Given the description of an element on the screen output the (x, y) to click on. 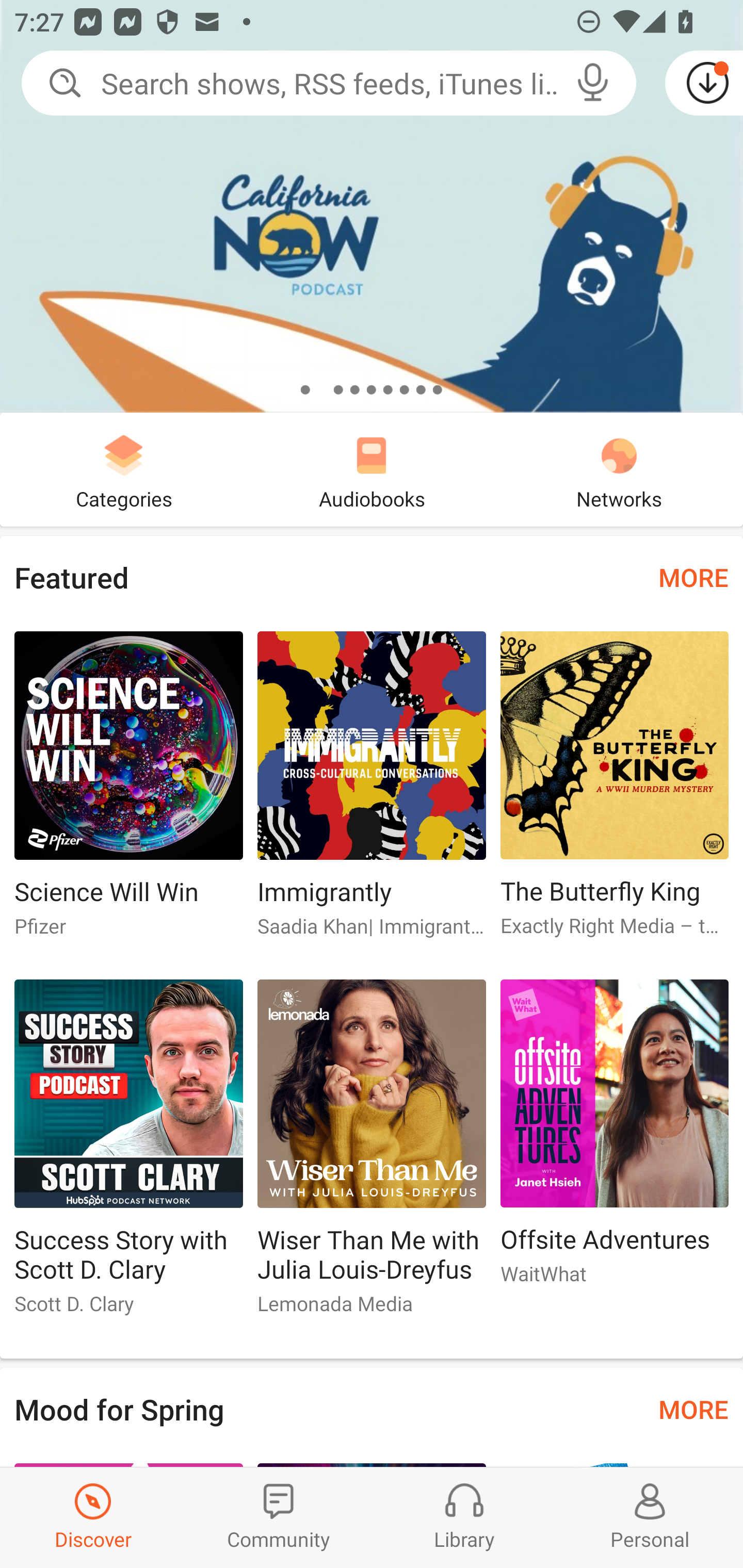
California Now Podcast (371, 206)
Categories (123, 469)
Audiobooks (371, 469)
Networks (619, 469)
MORE (693, 576)
Science Will Win Science Will Win Pfizer (128, 792)
Offsite Adventures Offsite Adventures WaitWhat (614, 1140)
MORE (693, 1409)
Discover (92, 1517)
Community (278, 1517)
Library (464, 1517)
Profiles and Settings Personal (650, 1517)
